Given the description of an element on the screen output the (x, y) to click on. 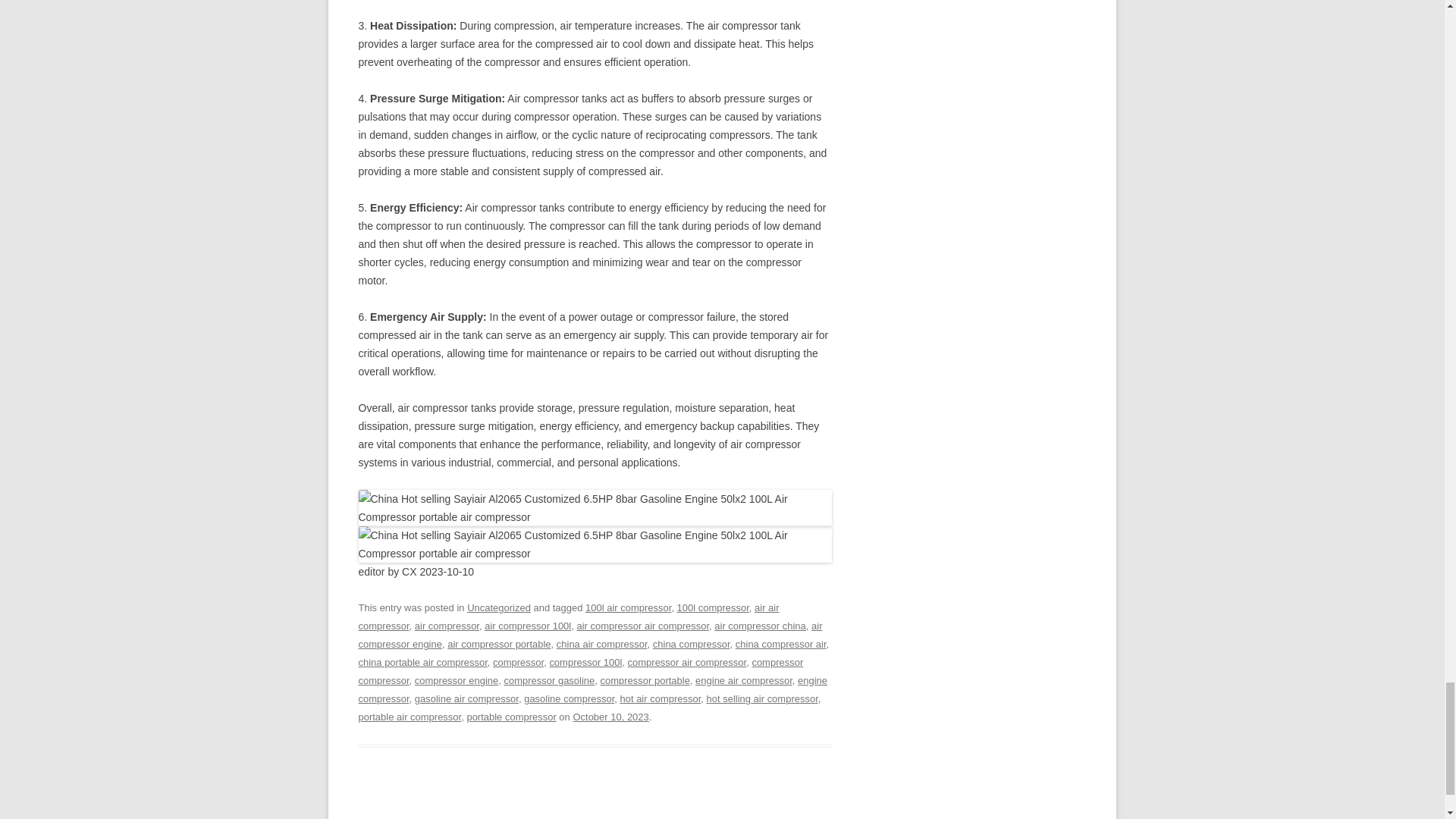
air compressor engine (590, 634)
October 10, 2023 (609, 716)
compressor engine (455, 680)
100l compressor (713, 607)
compressor 100l (584, 662)
engine compressor (592, 689)
air air compressor (568, 616)
compressor portable (644, 680)
china air compressor (601, 644)
compressor air compressor (686, 662)
